Given the description of an element on the screen output the (x, y) to click on. 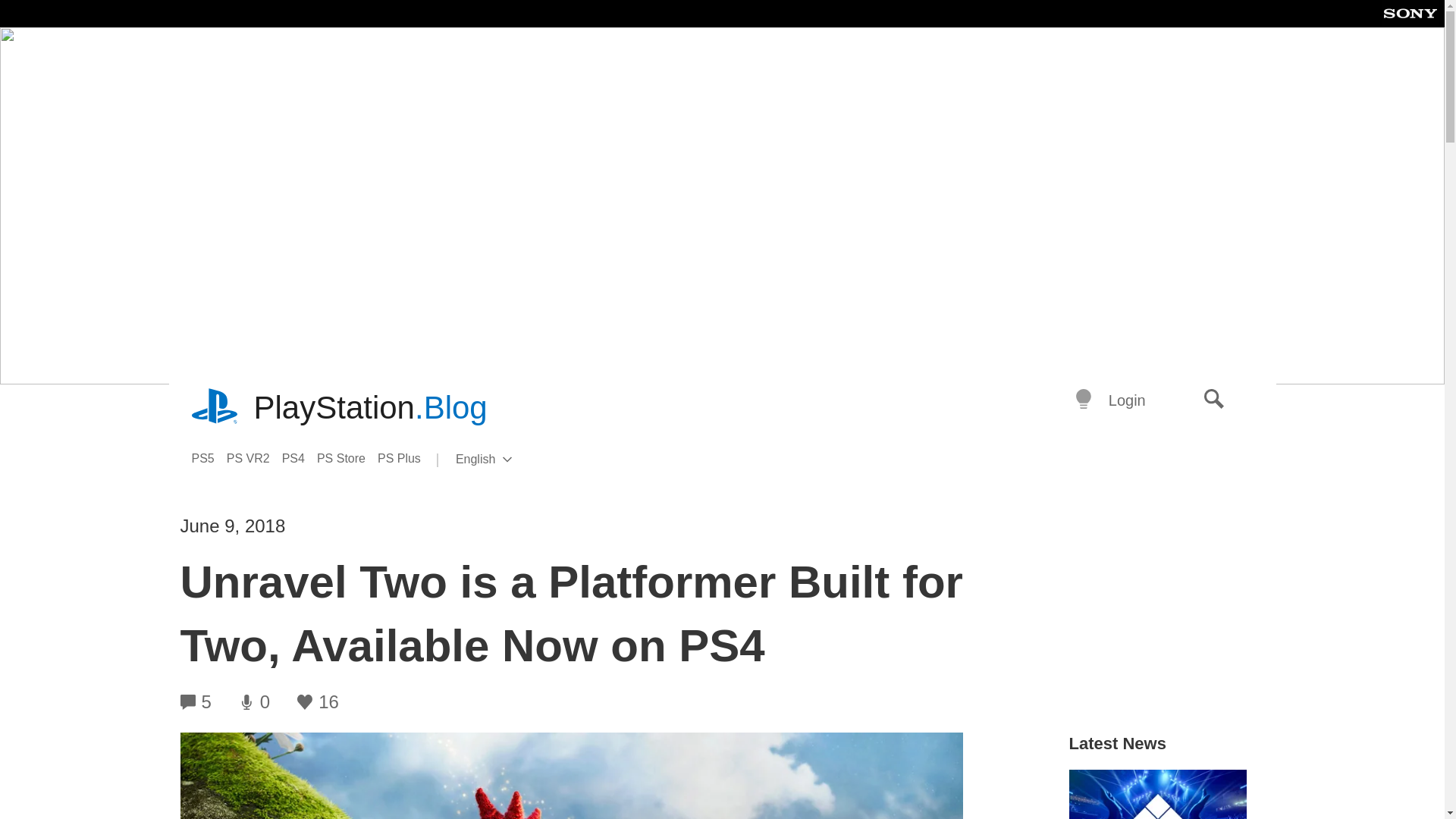
PS Store (347, 458)
playstation.com (215, 408)
PS Plus (508, 459)
PlayStation.Blog (404, 458)
PS5 (369, 407)
PS4 (207, 458)
Search (299, 458)
PS VR2 (1214, 400)
Login (254, 458)
Skip to content (1126, 400)
